Given the description of an element on the screen output the (x, y) to click on. 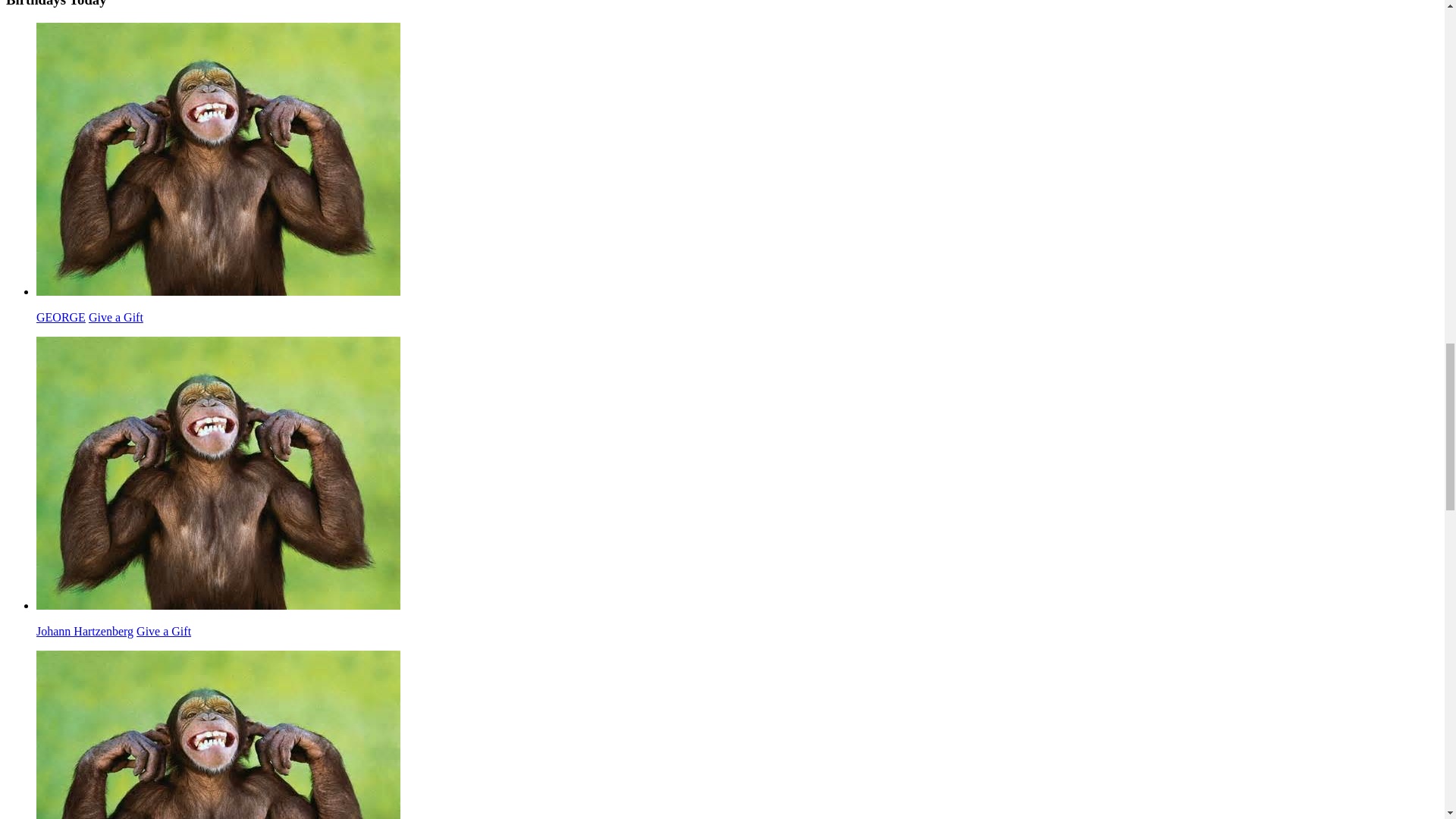
GEORGE (218, 291)
Johann Hartzenberg (218, 604)
